Given the description of an element on the screen output the (x, y) to click on. 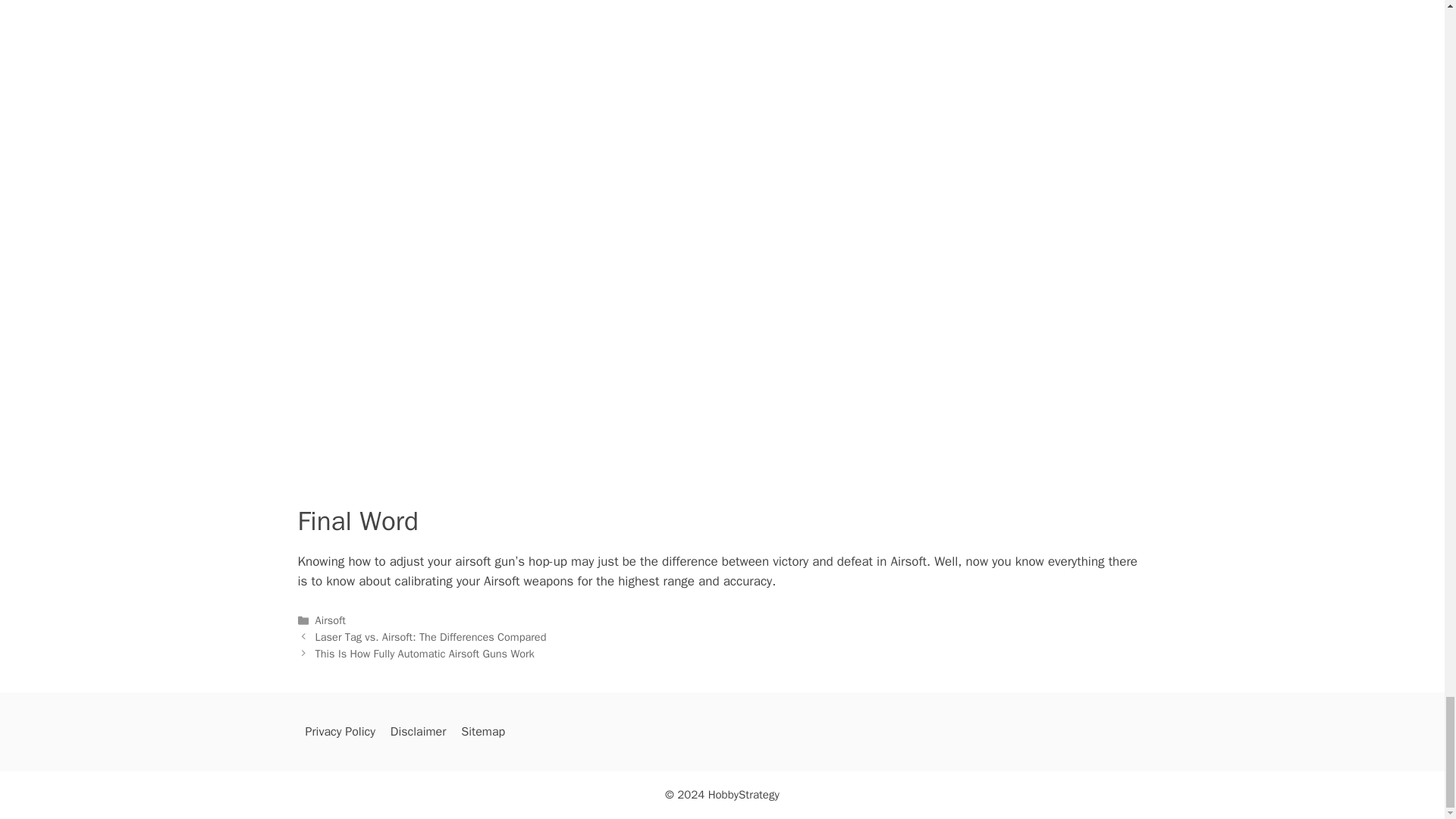
This Is How Fully Automatic Airsoft Guns Work (424, 653)
Laser Tag vs. Airsoft: The Differences Compared (431, 636)
Airsoft (330, 620)
